Given the description of an element on the screen output the (x, y) to click on. 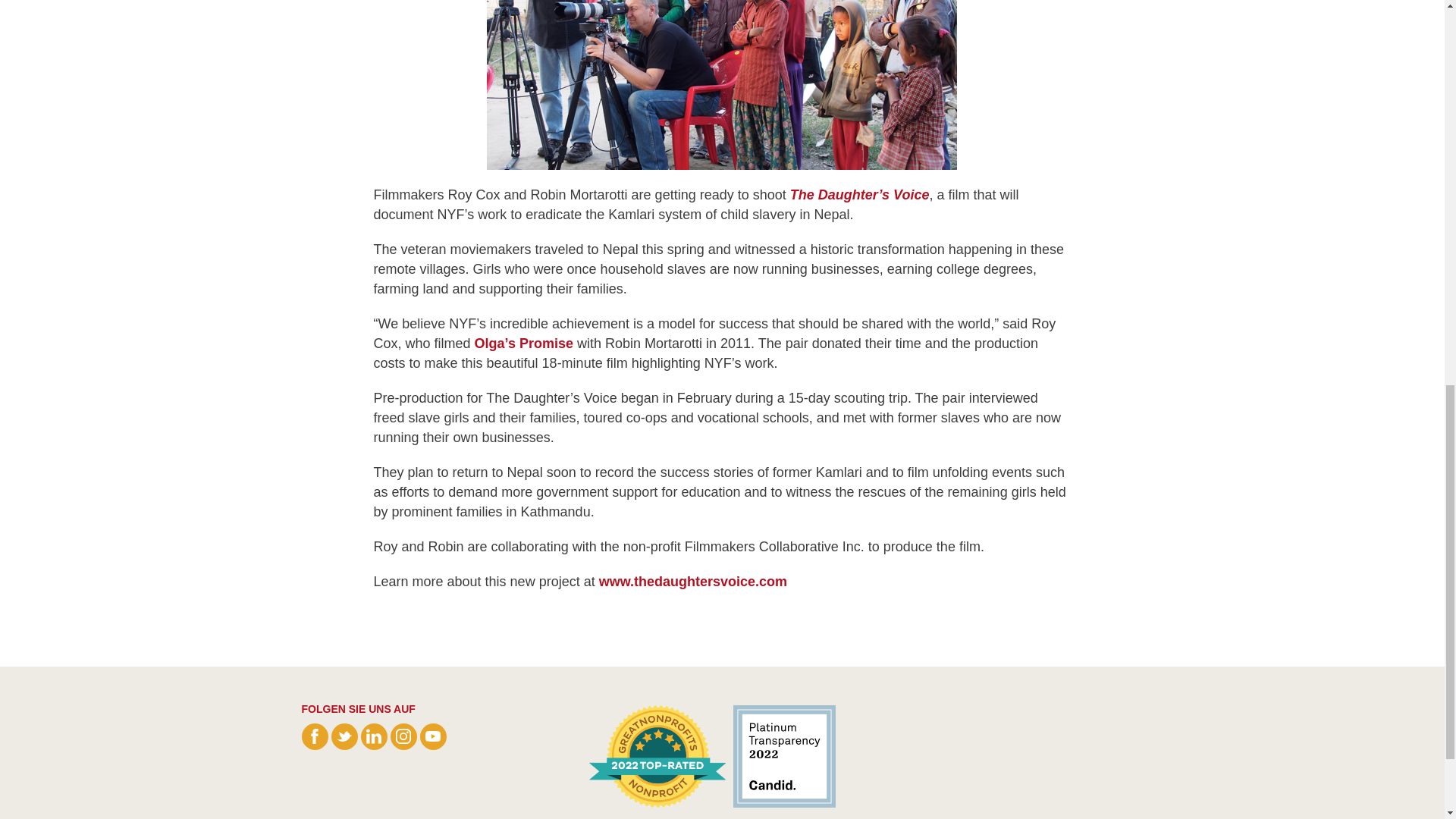
2021 Top-rated nonprofits and charities (657, 756)
NEPAL YOUTH FOUNDATION - GuideStar Profile (780, 755)
www.thedaughtersvoice.com (692, 581)
